Given the description of an element on the screen output the (x, y) to click on. 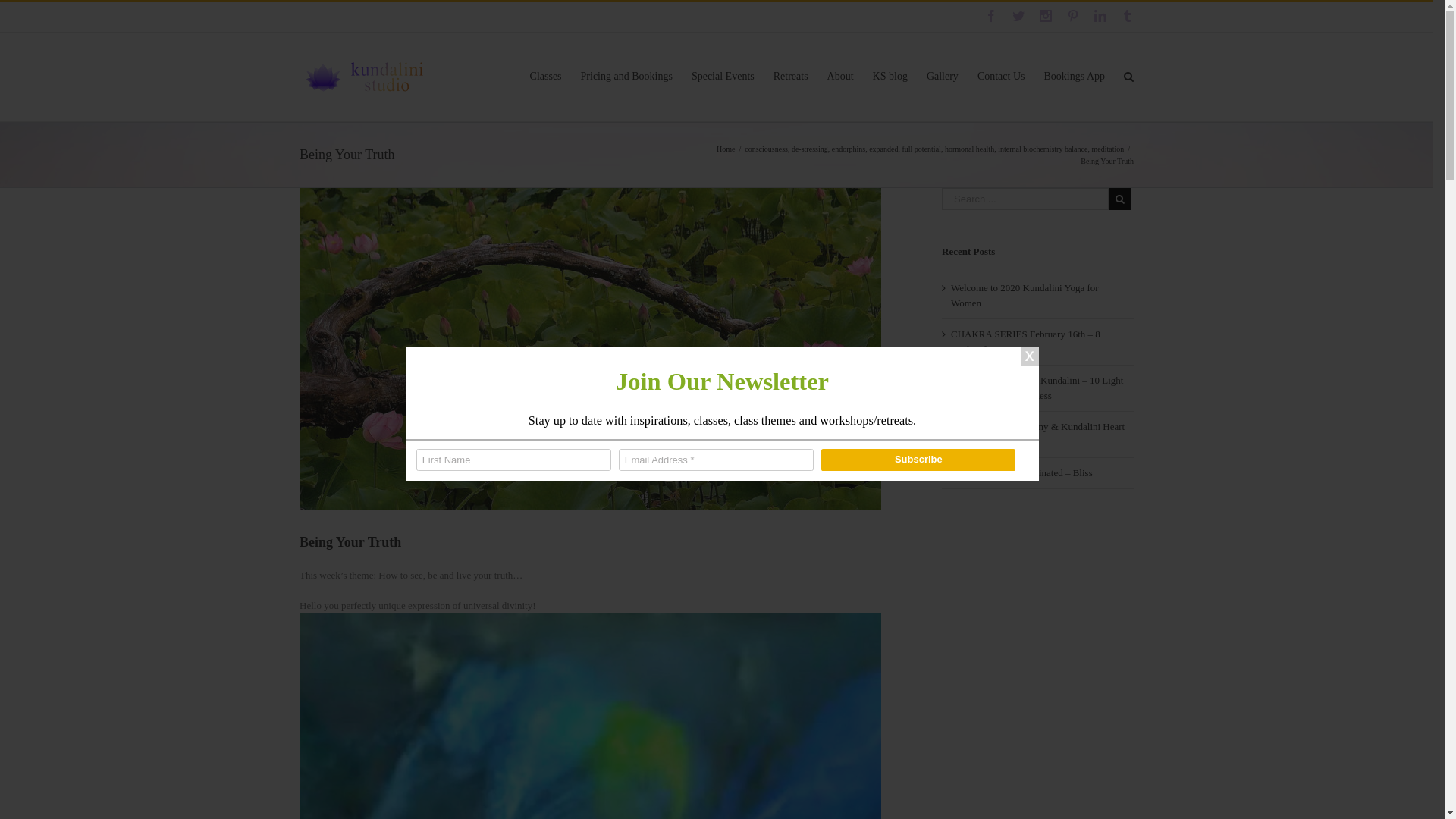
Special Events Element type: text (722, 74)
hormonal health Element type: text (969, 148)
Linkedin Element type: text (1100, 15)
de-stressing Element type: text (809, 148)
KS blog Element type: text (889, 74)
Subscribe Element type: text (918, 459)
Gallery Element type: text (942, 74)
internal biochemistry balance Element type: text (1042, 148)
Tumblr Element type: text (1127, 15)
Welcome to 2020 Kundalini Yoga for Women Element type: text (1024, 295)
About Element type: text (840, 74)
Classes Element type: text (545, 74)
Instagram Element type: text (1045, 15)
Sacred Cacao Ceremony & Kundalini Heart Chakra Yoga Element type: text (1037, 433)
Twitter Element type: text (1018, 15)
full potential Element type: text (920, 148)
meditation Element type: text (1107, 148)
endorphins Element type: text (848, 148)
Facebook Element type: text (991, 15)
Pricing and Bookings Element type: text (626, 74)
Retreats Element type: text (790, 74)
Pinterest Element type: text (1072, 15)
Contact Us Element type: text (1001, 74)
Home Element type: text (725, 148)
expanded Element type: text (883, 148)
Bookings App Element type: text (1073, 74)
consciousness Element type: text (765, 148)
